Given the description of an element on the screen output the (x, y) to click on. 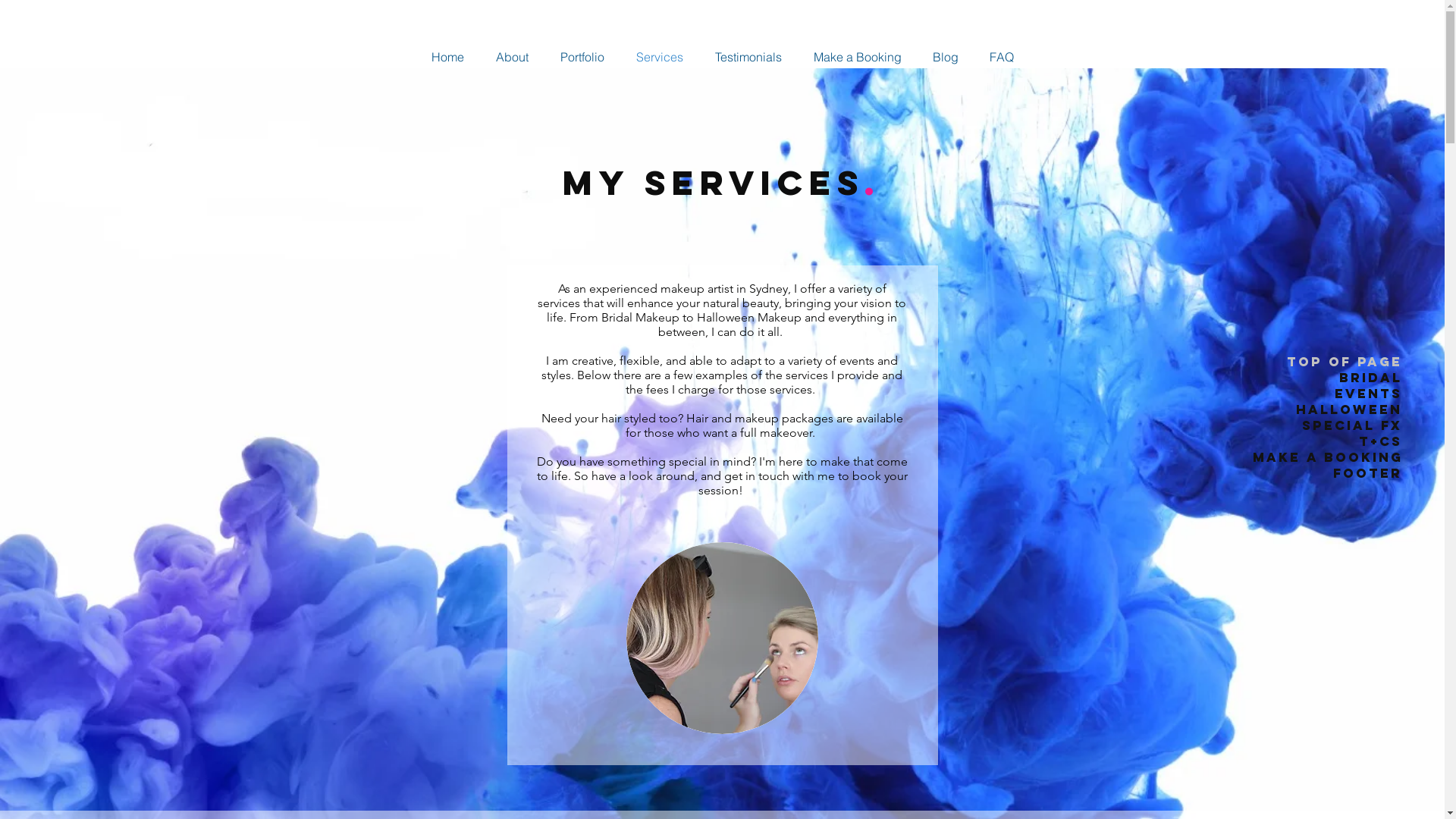
Footer Element type: text (1327, 473)
FAQ Element type: text (1001, 56)
About Element type: text (511, 56)
Special FX Element type: text (1327, 425)
Bridal Element type: text (1327, 377)
Make a Booking Element type: text (857, 56)
Make a Booking Element type: text (1327, 456)
Portfolio Element type: text (582, 56)
Services Element type: text (659, 56)
Home Element type: text (447, 56)
Events Element type: text (1327, 393)
Testimonials Element type: text (748, 56)
T+Cs Element type: text (1327, 441)
Halloween Element type: text (1327, 409)
Top of Page Element type: text (1327, 361)
Blog Element type: text (945, 56)
